Given the description of an element on the screen output the (x, y) to click on. 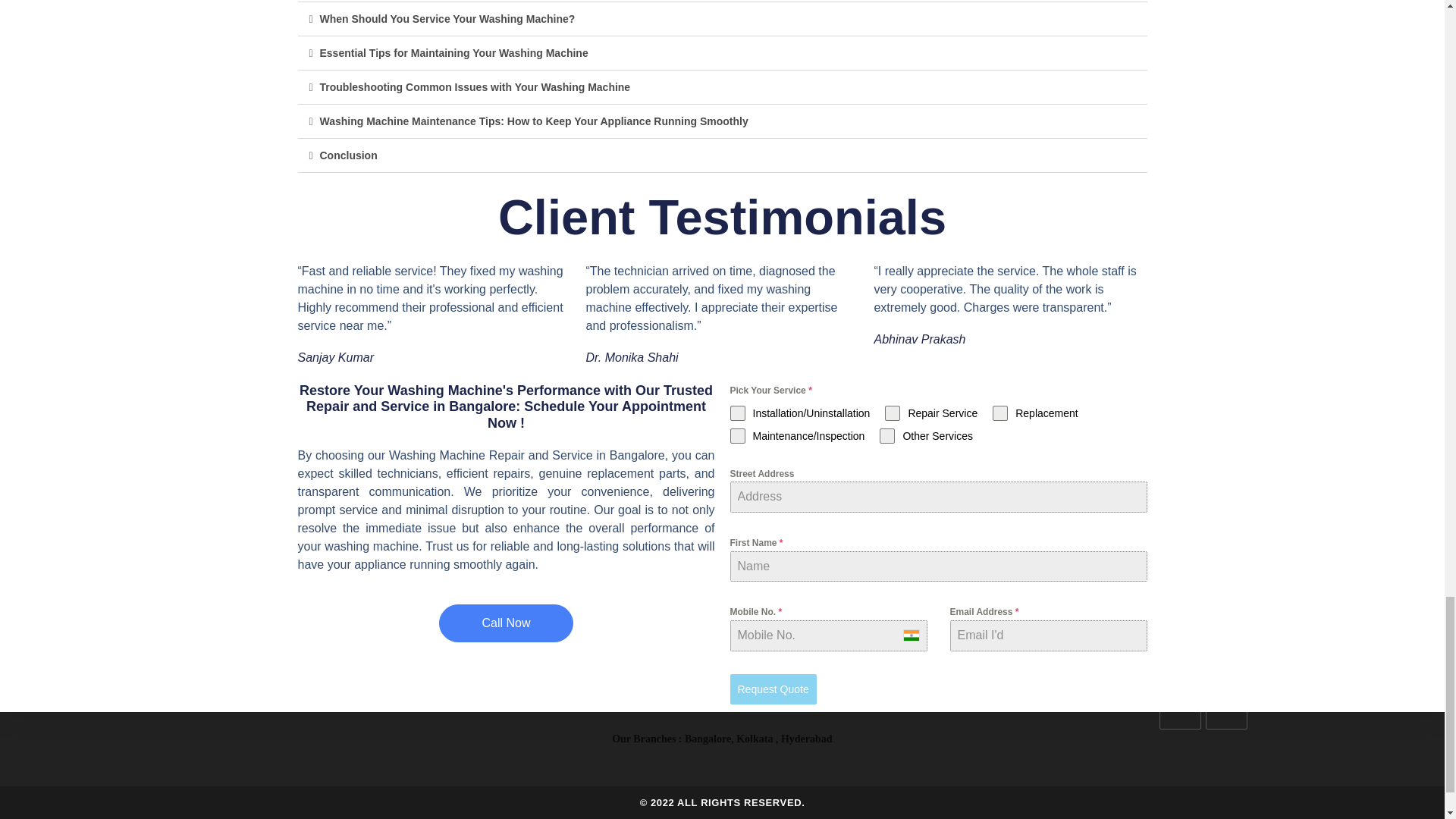
Repair Service (930, 412)
